Given the description of an element on the screen output the (x, y) to click on. 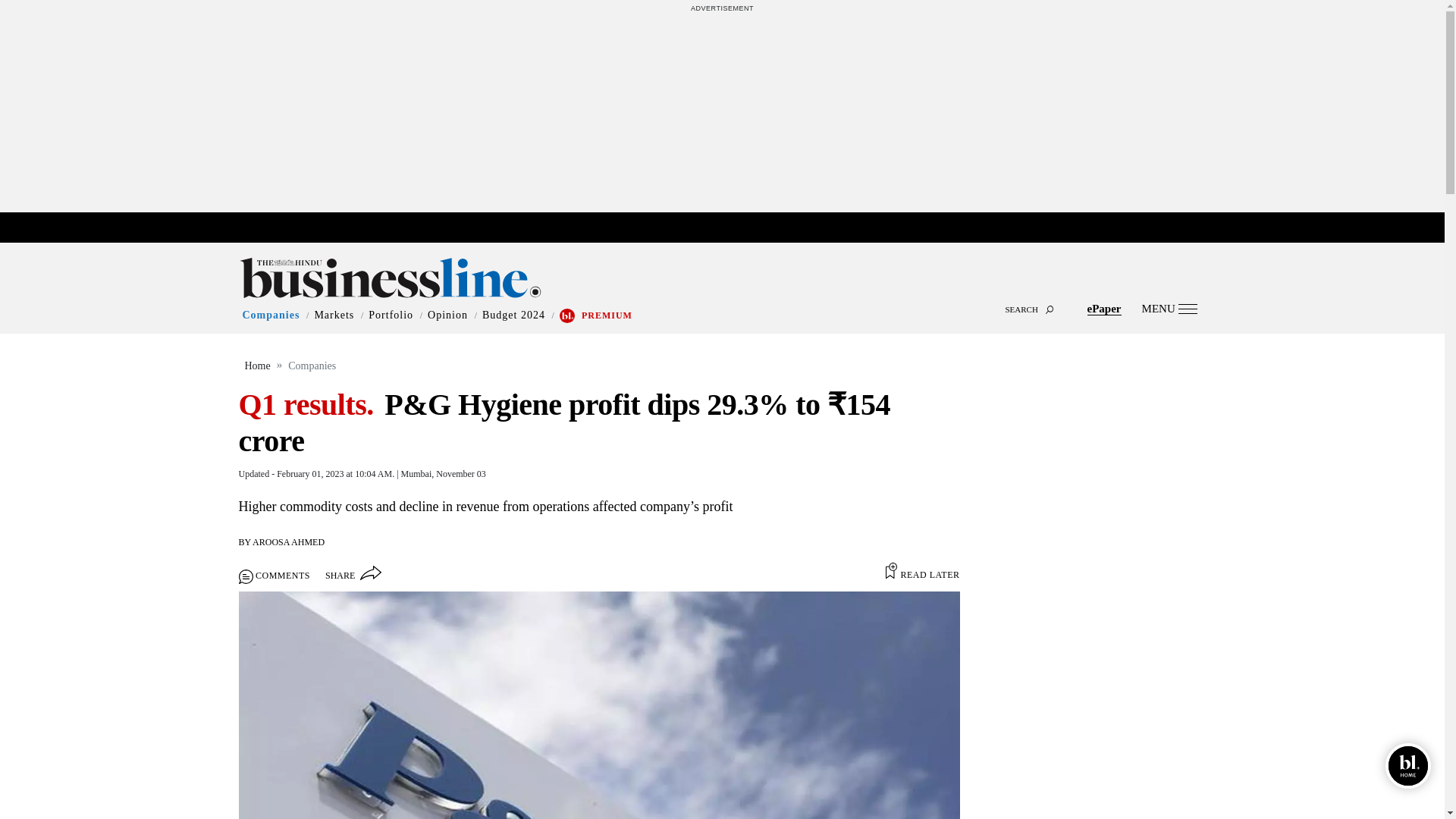
PREMIUM (605, 315)
marketupdate (729, 228)
SEARCH (721, 295)
Portfolio (390, 315)
Budget 2024 (512, 315)
Opinion (447, 315)
Companies (271, 315)
Markets (333, 315)
ePaper (1104, 308)
MENU (1168, 308)
